Given the description of an element on the screen output the (x, y) to click on. 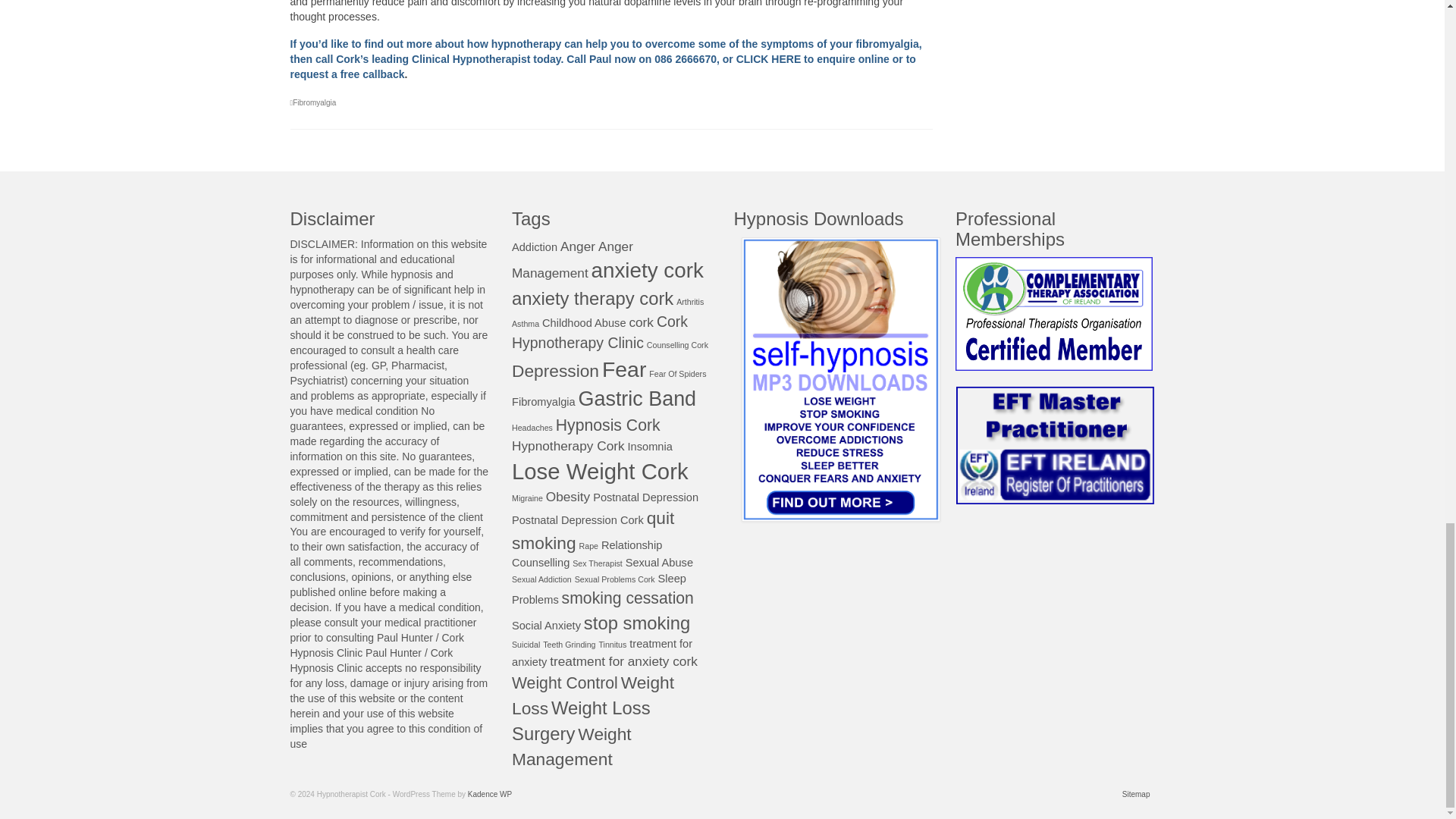
to enquire online or to request a free callback (602, 66)
Fibromyalgia (314, 102)
